Given the description of an element on the screen output the (x, y) to click on. 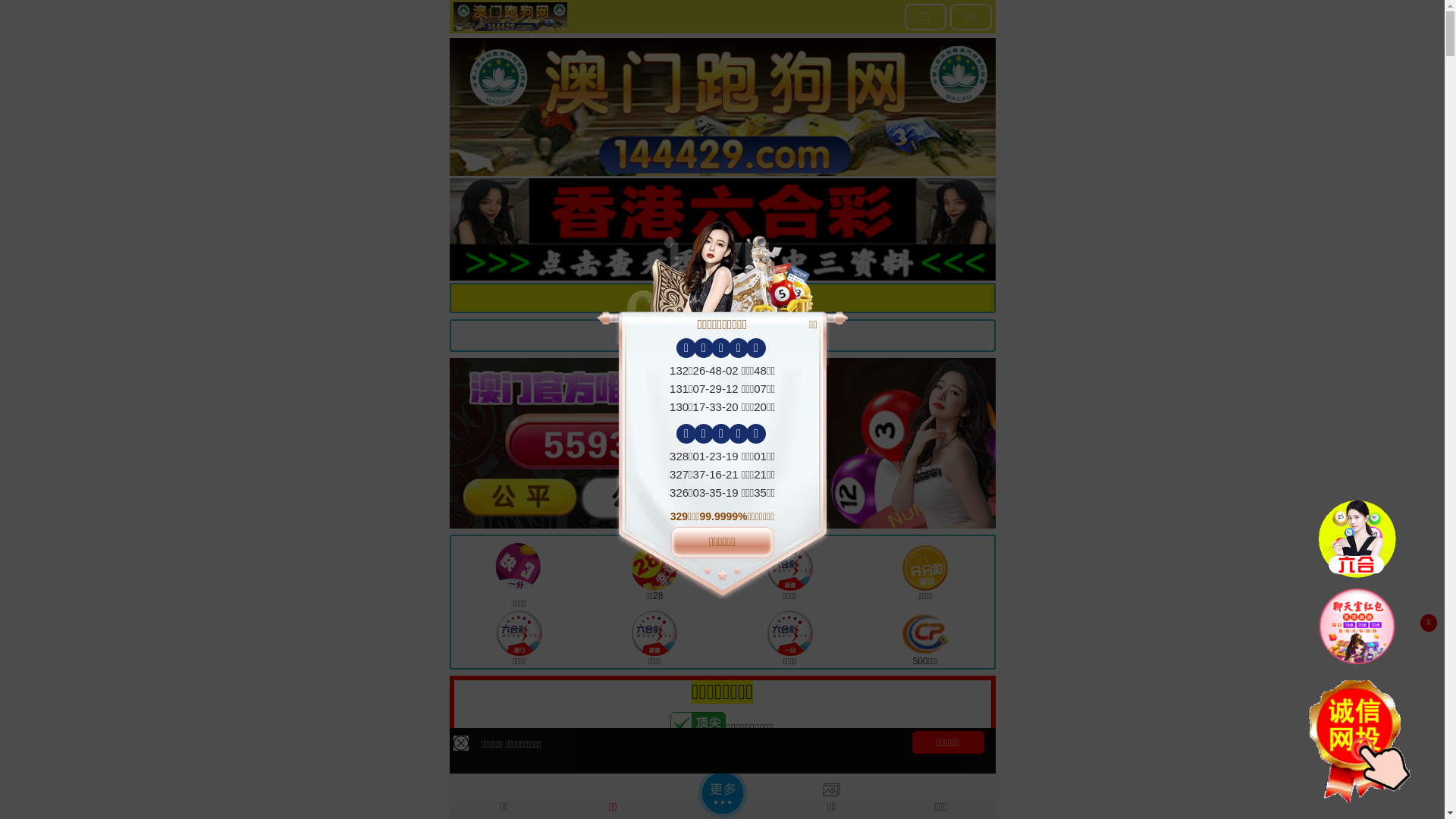
x Element type: text (1428, 622)
